Given the description of an element on the screen output the (x, y) to click on. 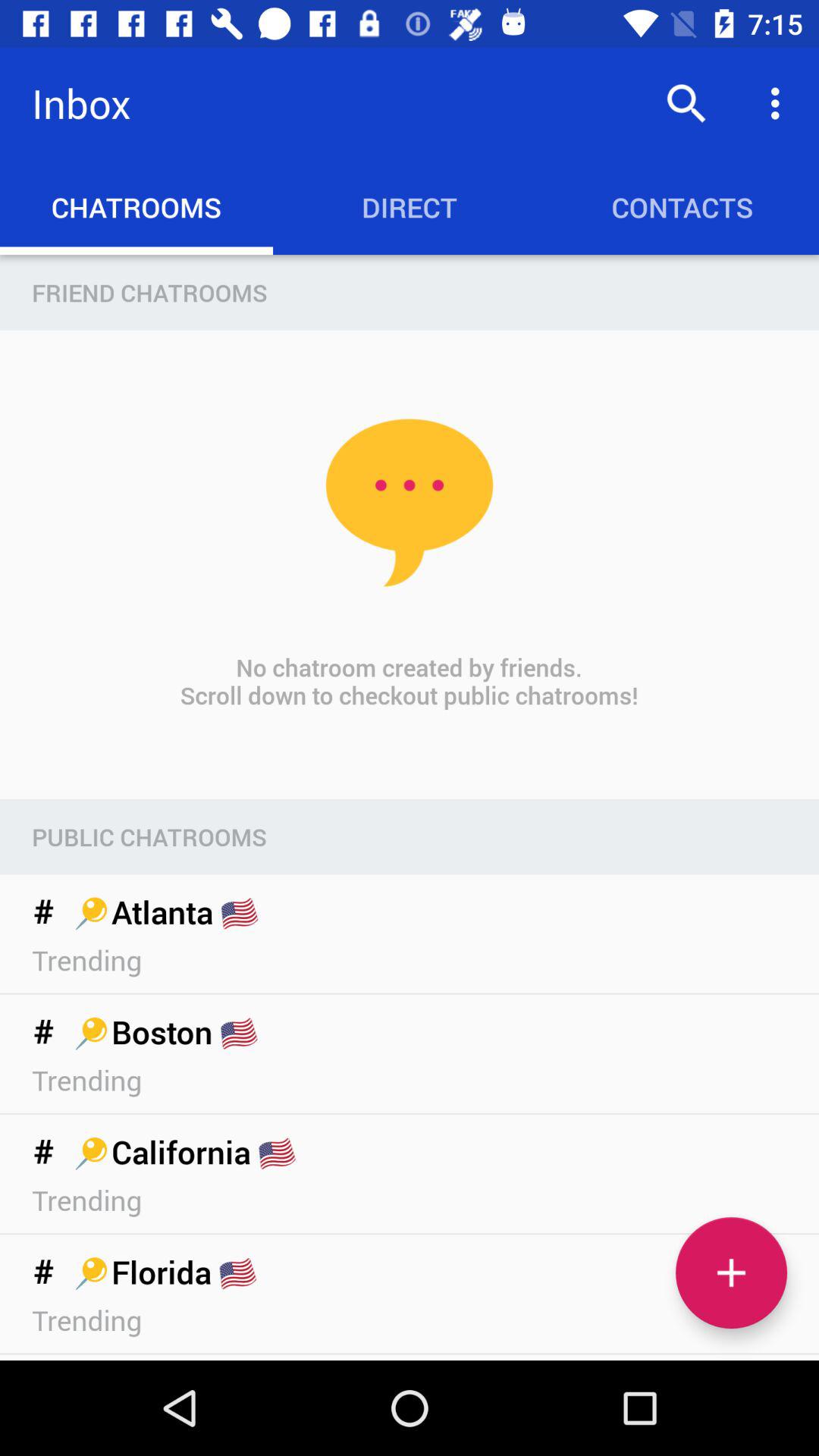
add something (731, 1272)
